Given the description of an element on the screen output the (x, y) to click on. 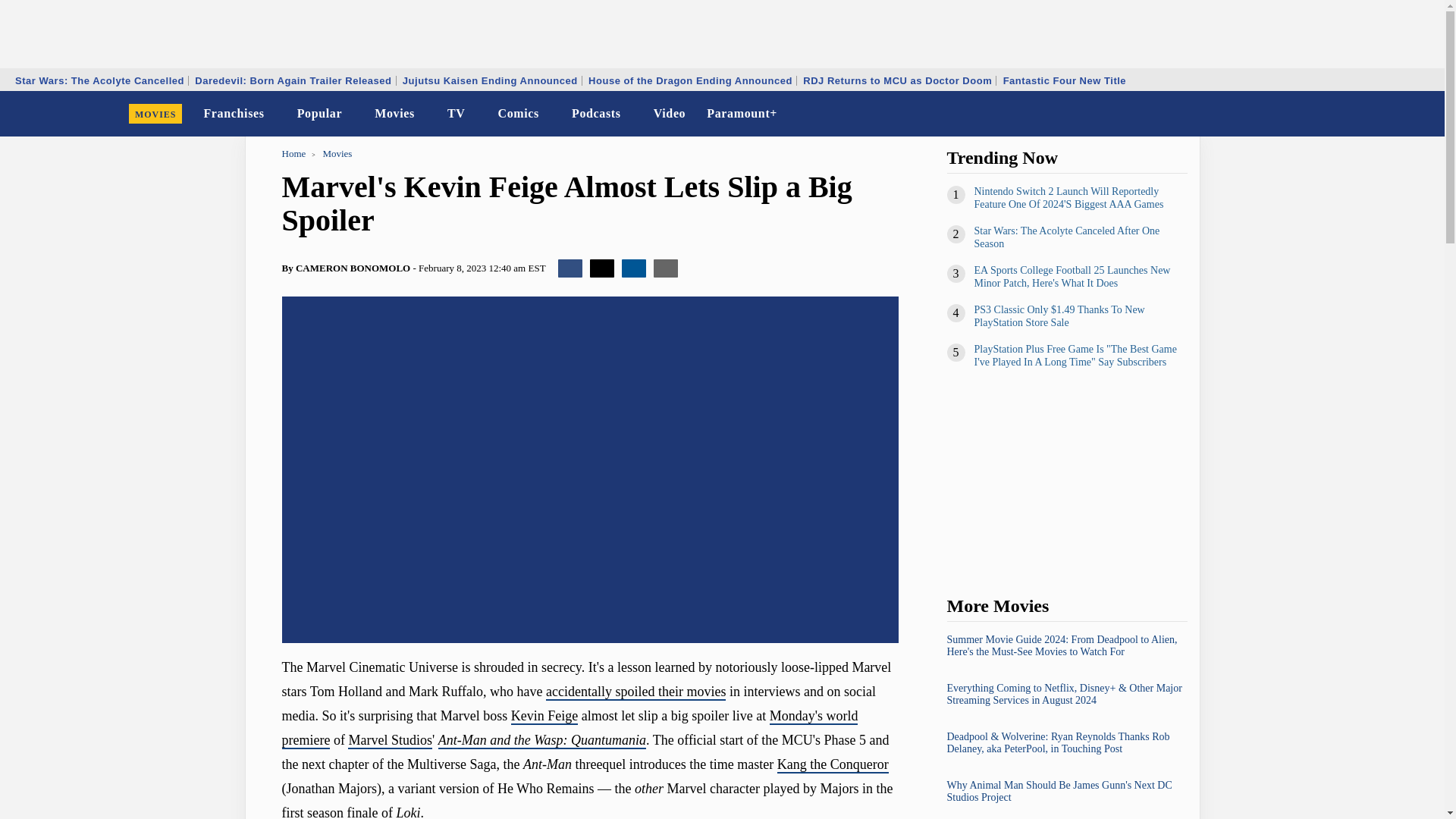
RDJ Returns to MCU as Doctor Doom (897, 80)
Star Wars: The Acolyte Cancelled (99, 80)
Dark Mode (1394, 113)
Jujutsu Kaisen Ending Announced (489, 80)
Fantastic Four New Title (1064, 80)
Popular (320, 113)
House of the Dragon Ending Announced (690, 80)
Search (1422, 114)
Movies (394, 113)
MOVIES (155, 113)
